Given the description of an element on the screen output the (x, y) to click on. 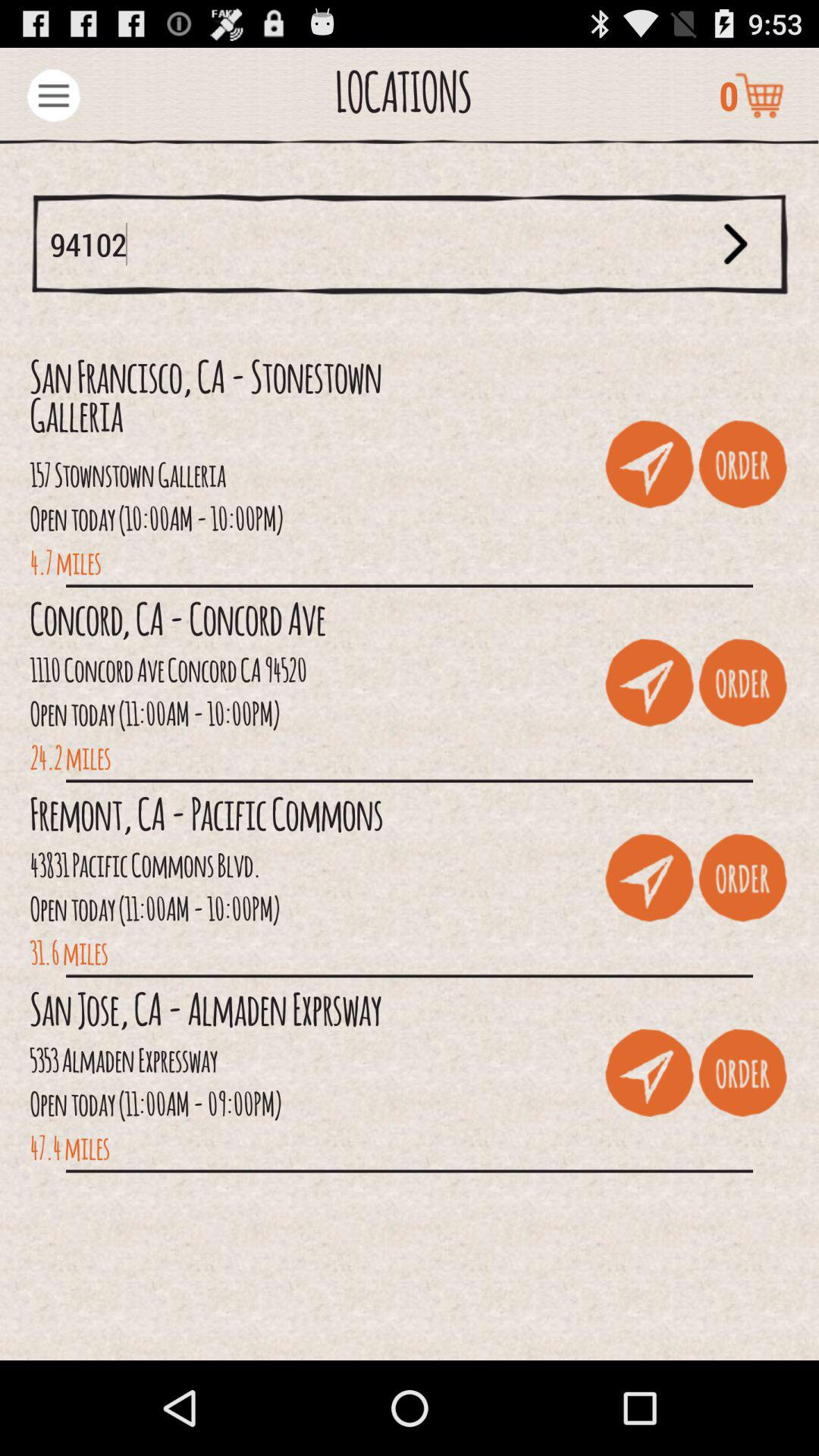
ecllipse (53, 95)
